Given the description of an element on the screen output the (x, y) to click on. 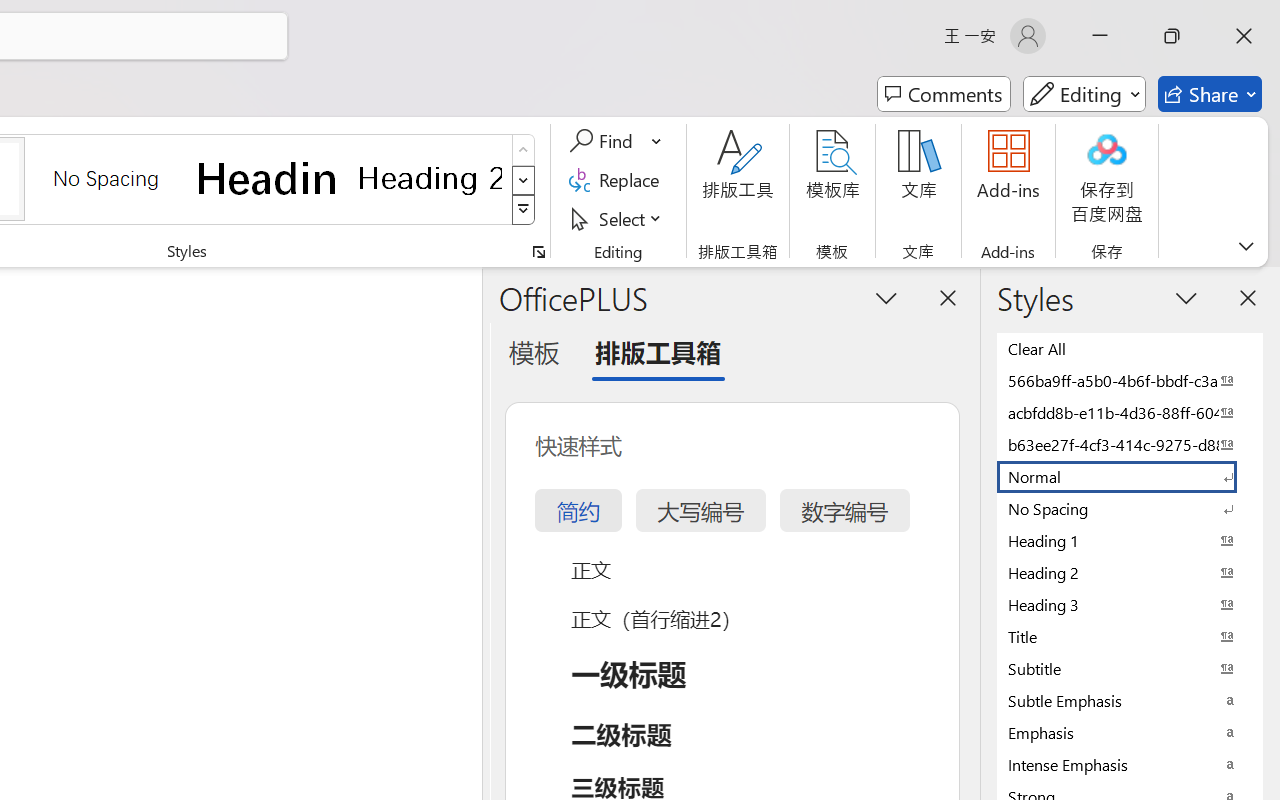
Task Pane Options (886, 297)
Class: NetUIImage (523, 210)
Subtle Emphasis (1130, 700)
Mode (1083, 94)
Restore Down (1172, 36)
Normal (1130, 476)
Heading 1 (267, 178)
Heading 2 (429, 178)
